Given the description of an element on the screen output the (x, y) to click on. 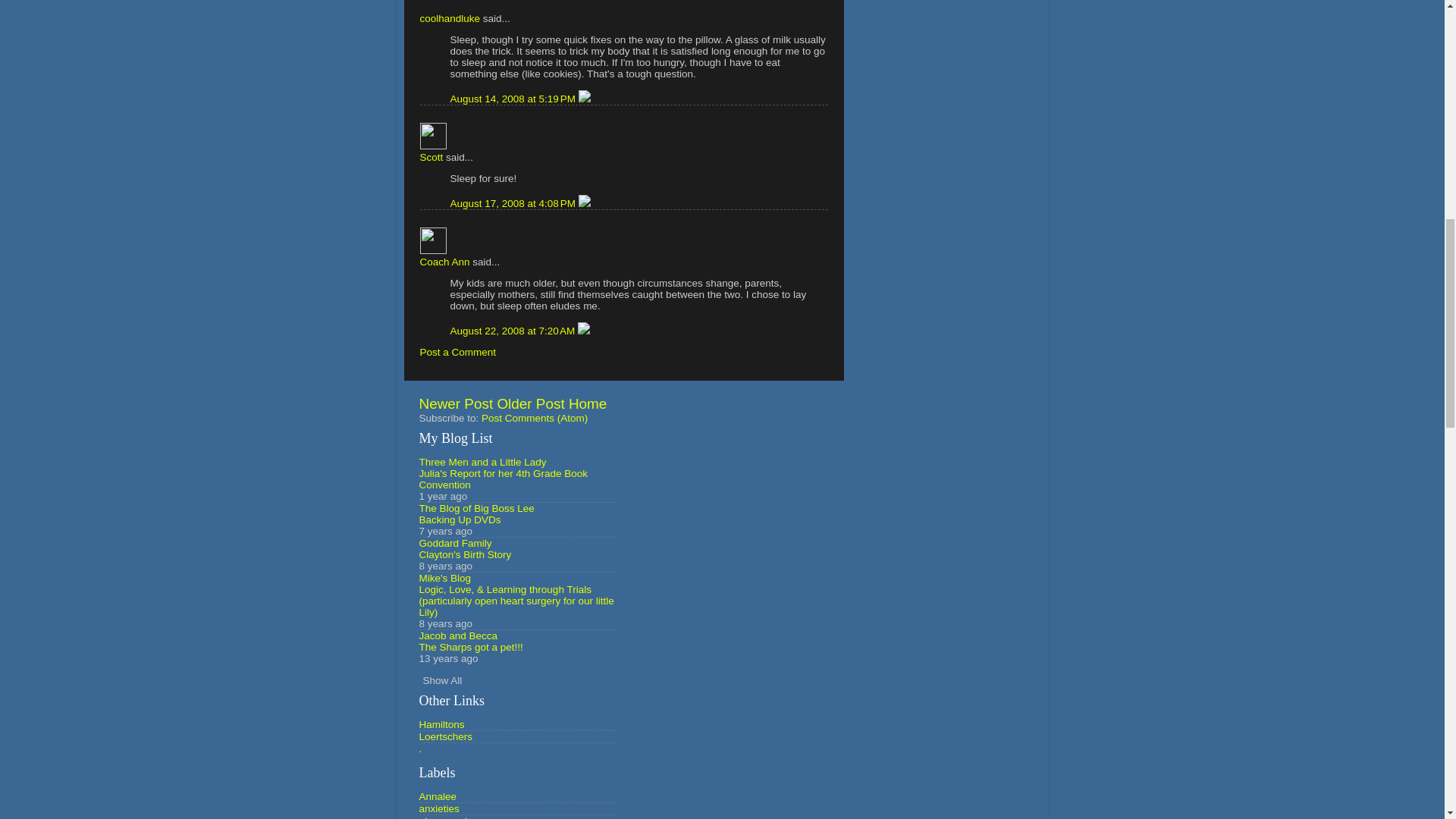
Delete Comment (584, 203)
Newer Post (456, 403)
Home (588, 403)
Scott (432, 156)
Older Post (530, 403)
Post a Comment (458, 351)
Coach Ann (445, 261)
Delete Comment (584, 98)
coolhandluke (450, 18)
comment permalink (513, 203)
Scott (433, 135)
comment permalink (513, 98)
